Given the description of an element on the screen output the (x, y) to click on. 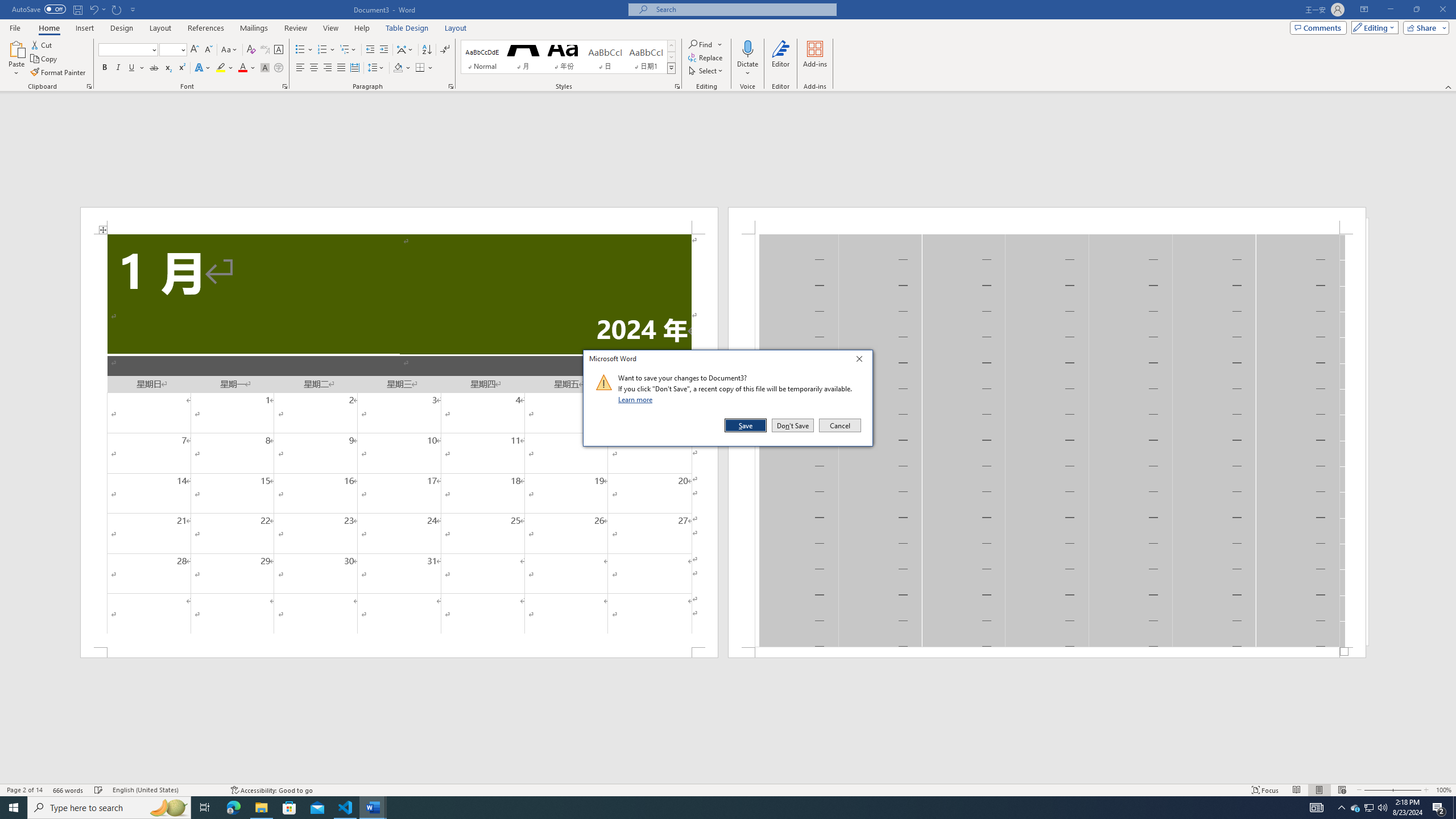
Borders (424, 67)
Restore Down (1416, 9)
Zoom Out (1377, 790)
Paste (16, 48)
File Tab (15, 27)
Font Color RGB(255, 0, 0) (241, 67)
Multilevel List (347, 49)
Sort... (426, 49)
Font... (1355, 807)
Layout (285, 85)
Header -Section 1- (455, 28)
Borders (1046, 220)
Superscript (419, 67)
Type here to search (180, 67)
